Given the description of an element on the screen output the (x, y) to click on. 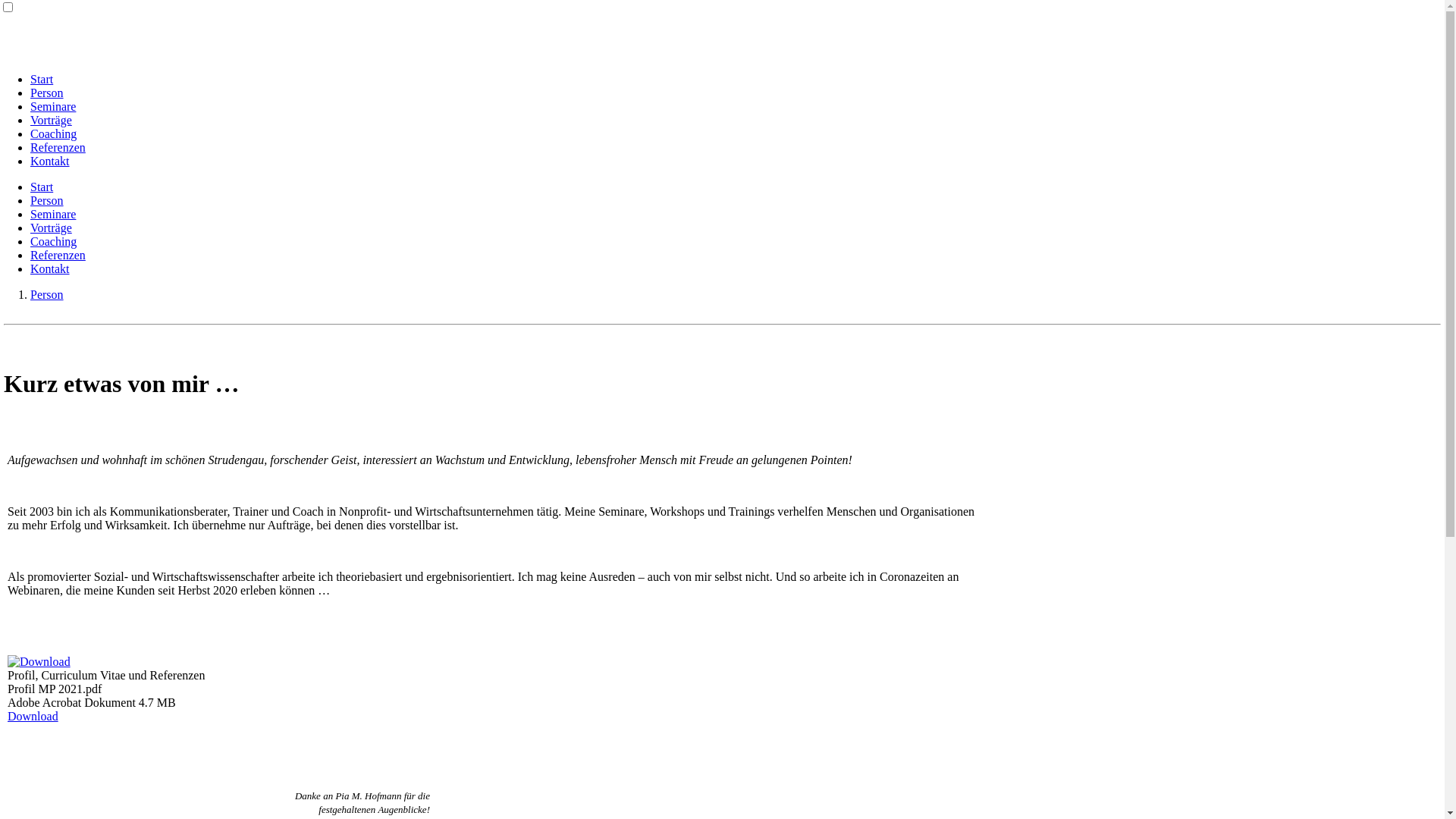
Referenzen Element type: text (57, 254)
Coaching Element type: text (53, 241)
Start Element type: text (41, 78)
Start Element type: text (41, 186)
Person Element type: text (46, 92)
Coaching Element type: text (53, 133)
Download Element type: text (32, 715)
Referenzen Element type: text (57, 147)
Kontakt Element type: text (49, 268)
Person Element type: text (46, 200)
Seminare Element type: text (52, 106)
Person Element type: text (46, 294)
Kontakt Element type: text (49, 160)
Seminare Element type: text (52, 213)
